Given the description of an element on the screen output the (x, y) to click on. 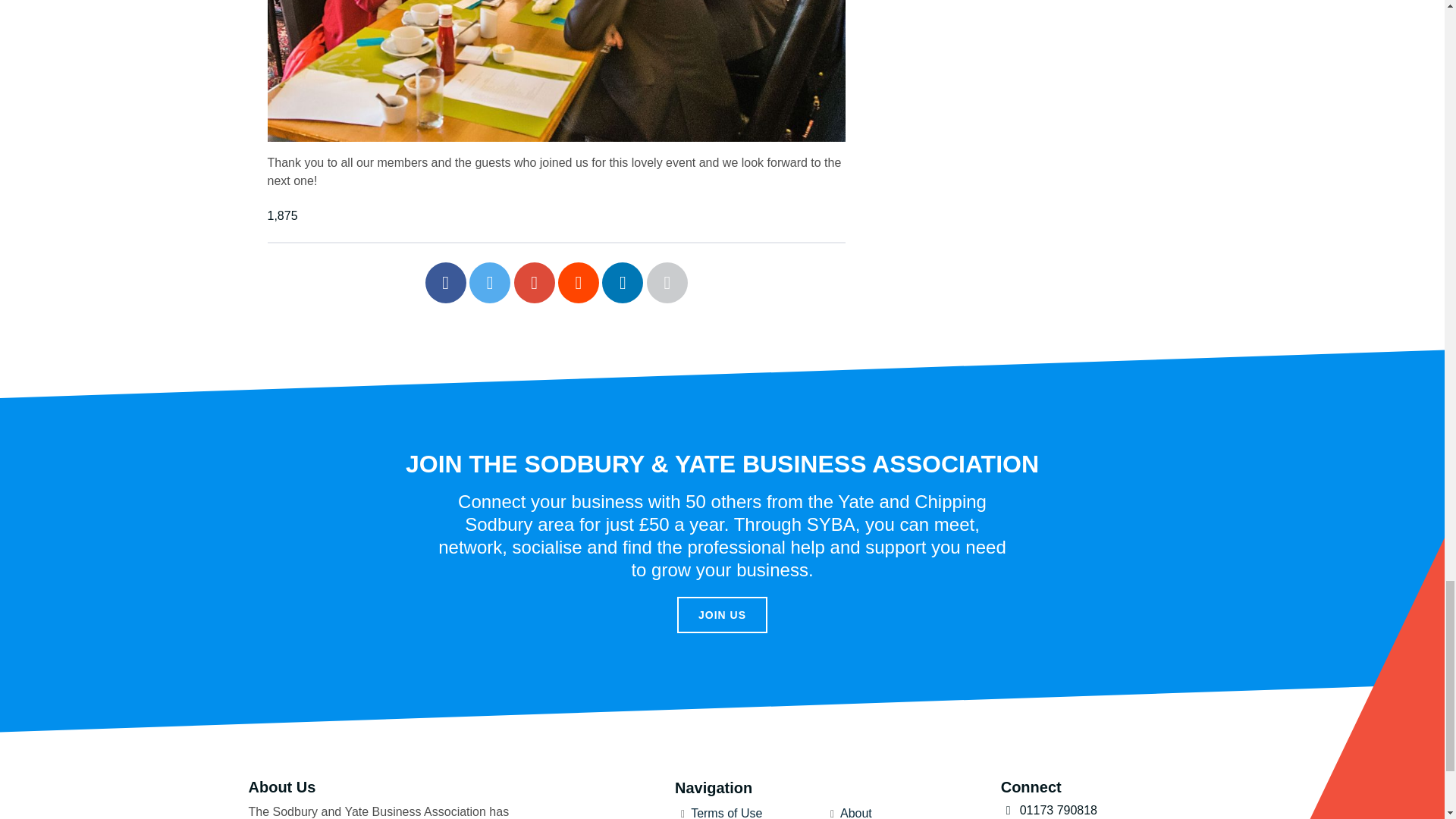
About (856, 812)
LinkedIn (622, 282)
JOIN US (722, 615)
Share on Twitter (489, 282)
Email (666, 282)
Share on LinkedIn (622, 282)
Twitter (489, 282)
Terms of Use (725, 812)
01173 790818 (1098, 810)
Reddit (577, 282)
Share via Email (666, 282)
Share on Facebook (445, 282)
Share on Reddit (577, 282)
Facebook (445, 282)
